Given the description of an element on the screen output the (x, y) to click on. 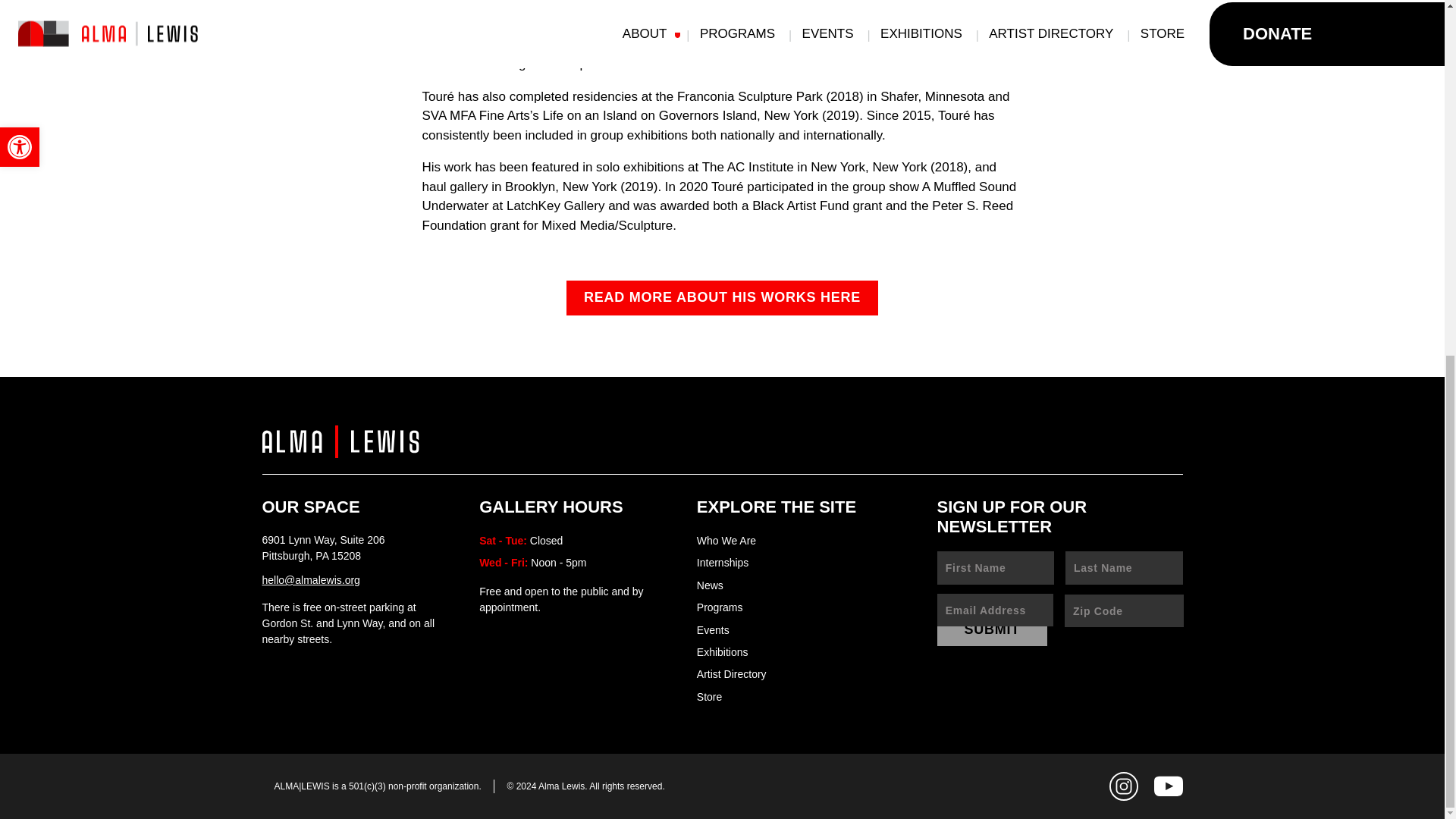
Internships (722, 562)
Submit (992, 630)
READ MORE ABOUT HIS WORKS HERE (722, 297)
Who We Are (726, 540)
